Given the description of an element on the screen output the (x, y) to click on. 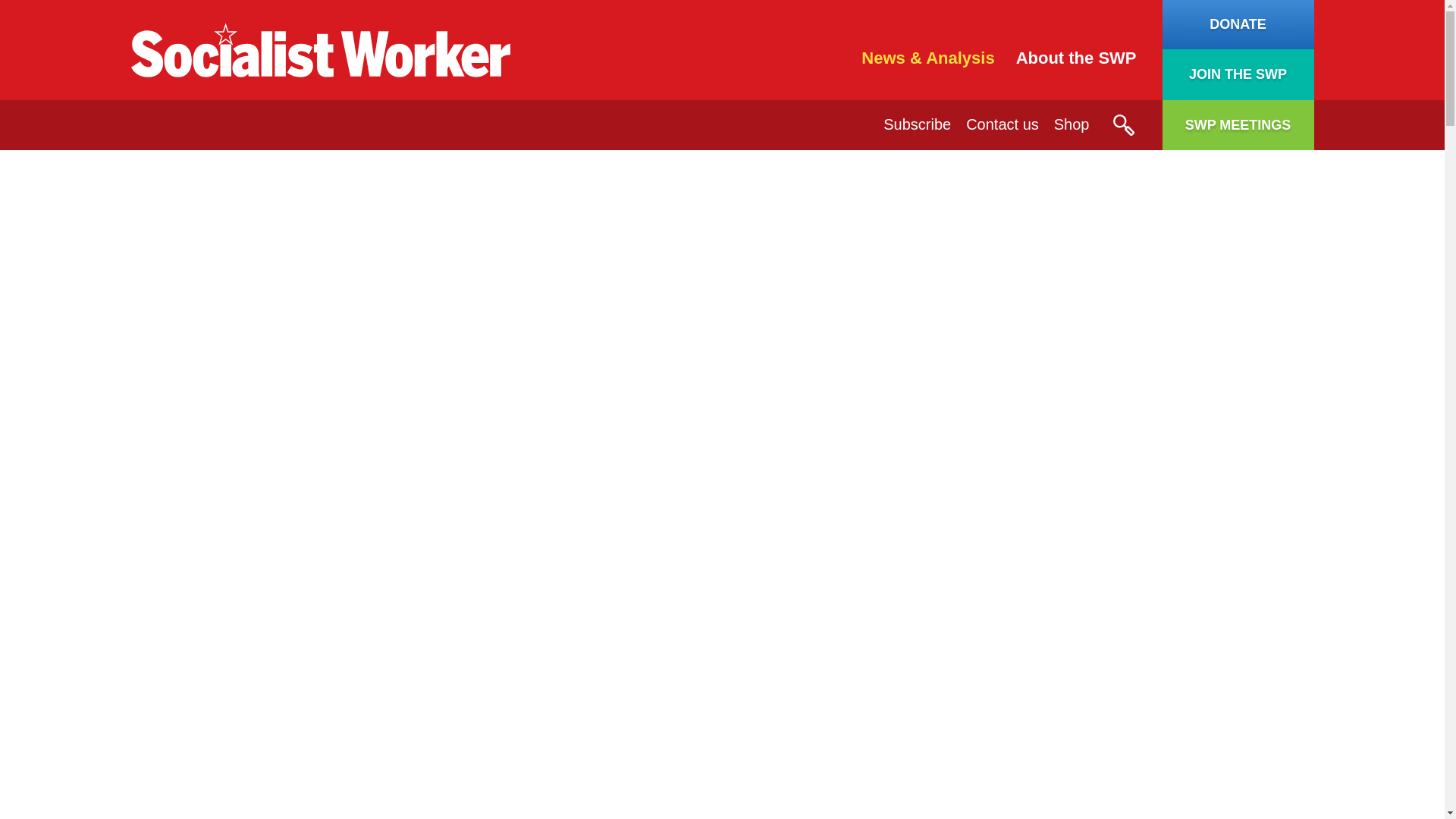
Search Button (1123, 124)
SWP MEETINGS (1237, 124)
Submit (1123, 124)
About the SWP (1076, 57)
Subscribe (916, 124)
Shop (1071, 124)
Contact us (1002, 124)
JOIN THE SWP (1237, 74)
DONATE (1237, 24)
About the SWP (1076, 57)
